Given the description of an element on the screen output the (x, y) to click on. 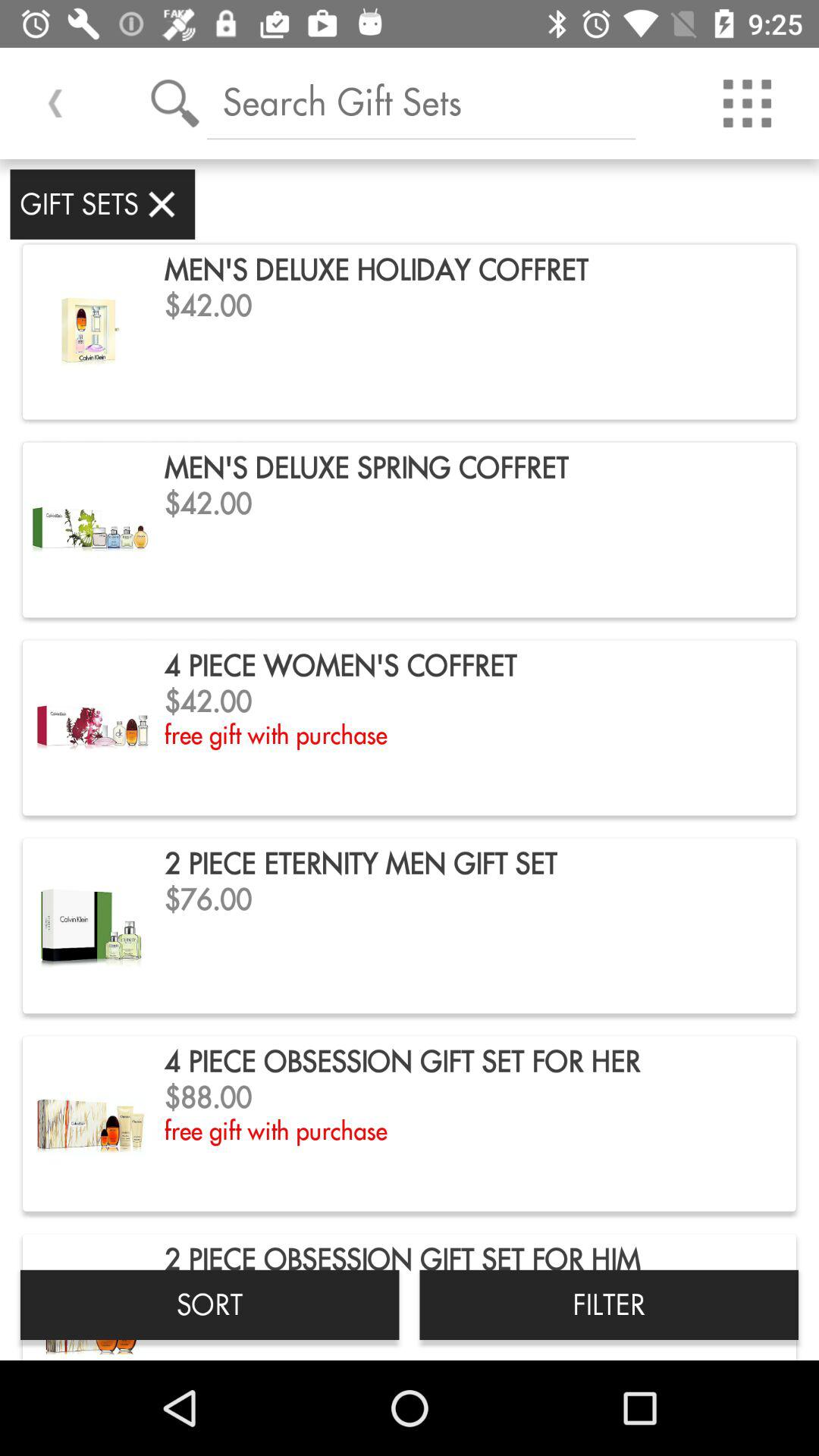
turn on the item to the right of sort item (608, 1304)
